Given the description of an element on the screen output the (x, y) to click on. 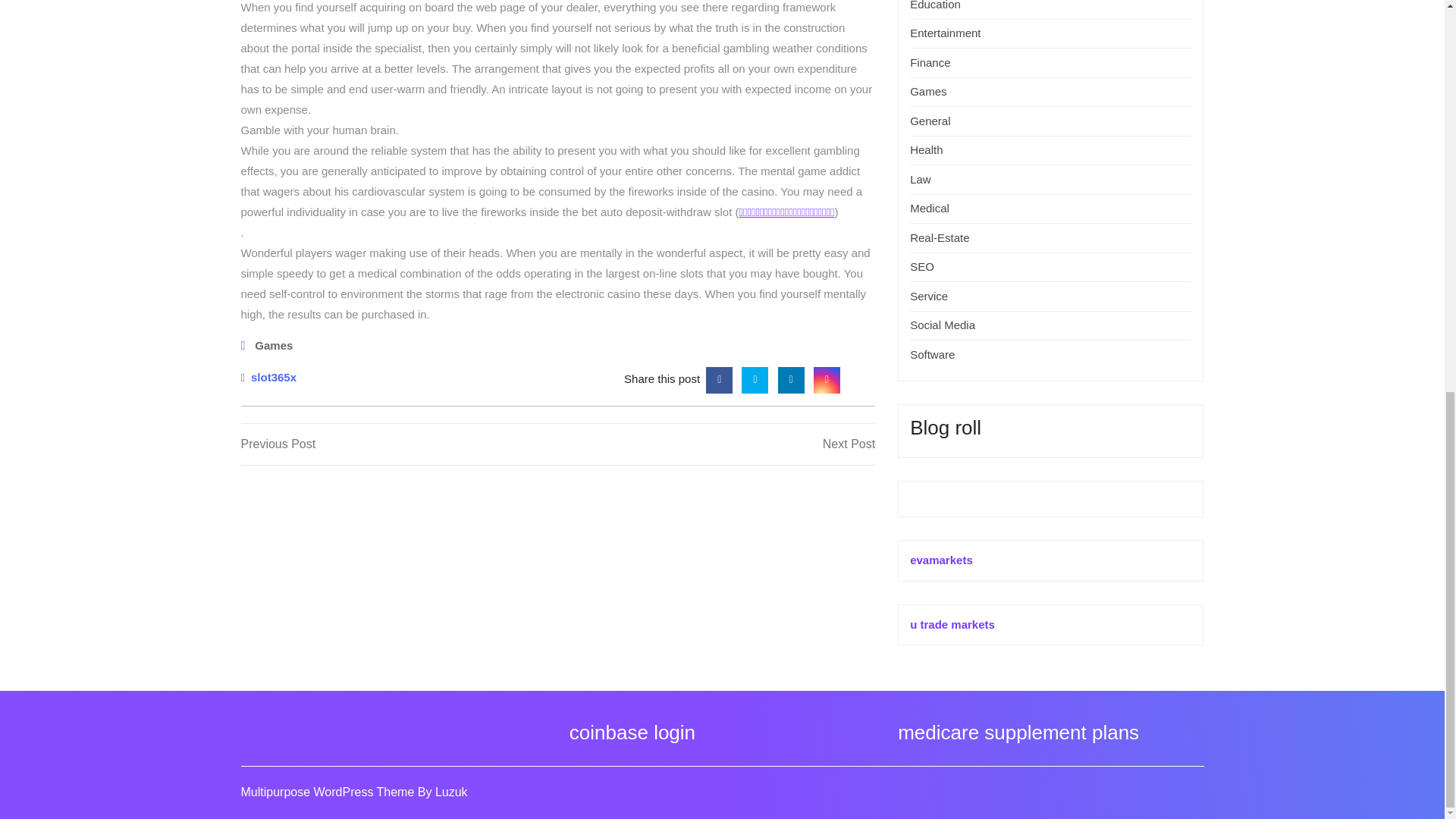
Education (935, 5)
Finance (930, 62)
Service (399, 443)
Entertainment (928, 295)
Social Media (944, 32)
slot365x (942, 324)
Health (273, 376)
Twitter (926, 149)
General (754, 378)
